Given the description of an element on the screen output the (x, y) to click on. 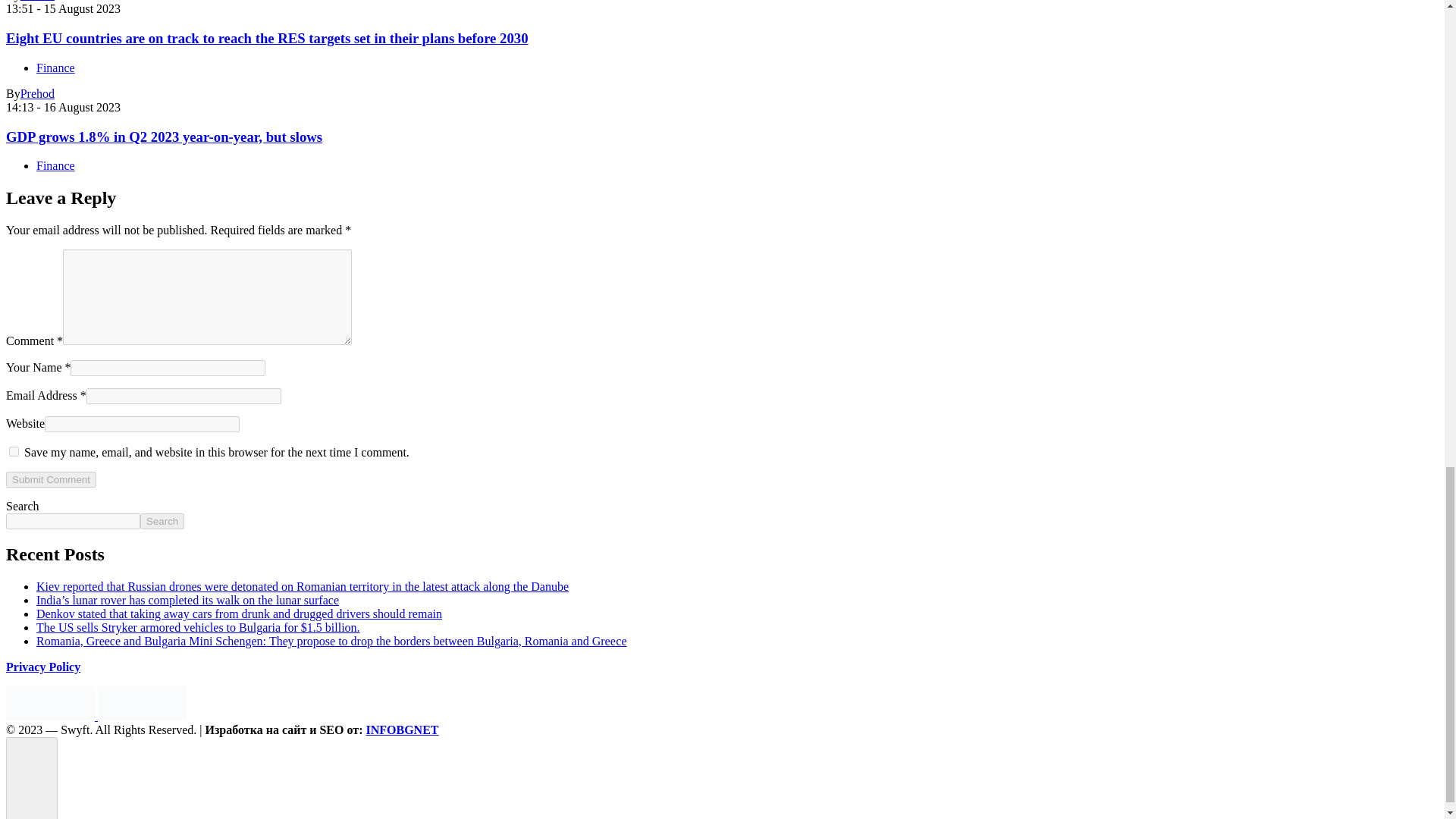
Prehod (37, 92)
Finance (55, 164)
yes (13, 451)
Submit Comment (50, 479)
Finance (55, 67)
Search (161, 521)
Prehod (37, 0)
